Given the description of an element on the screen output the (x, y) to click on. 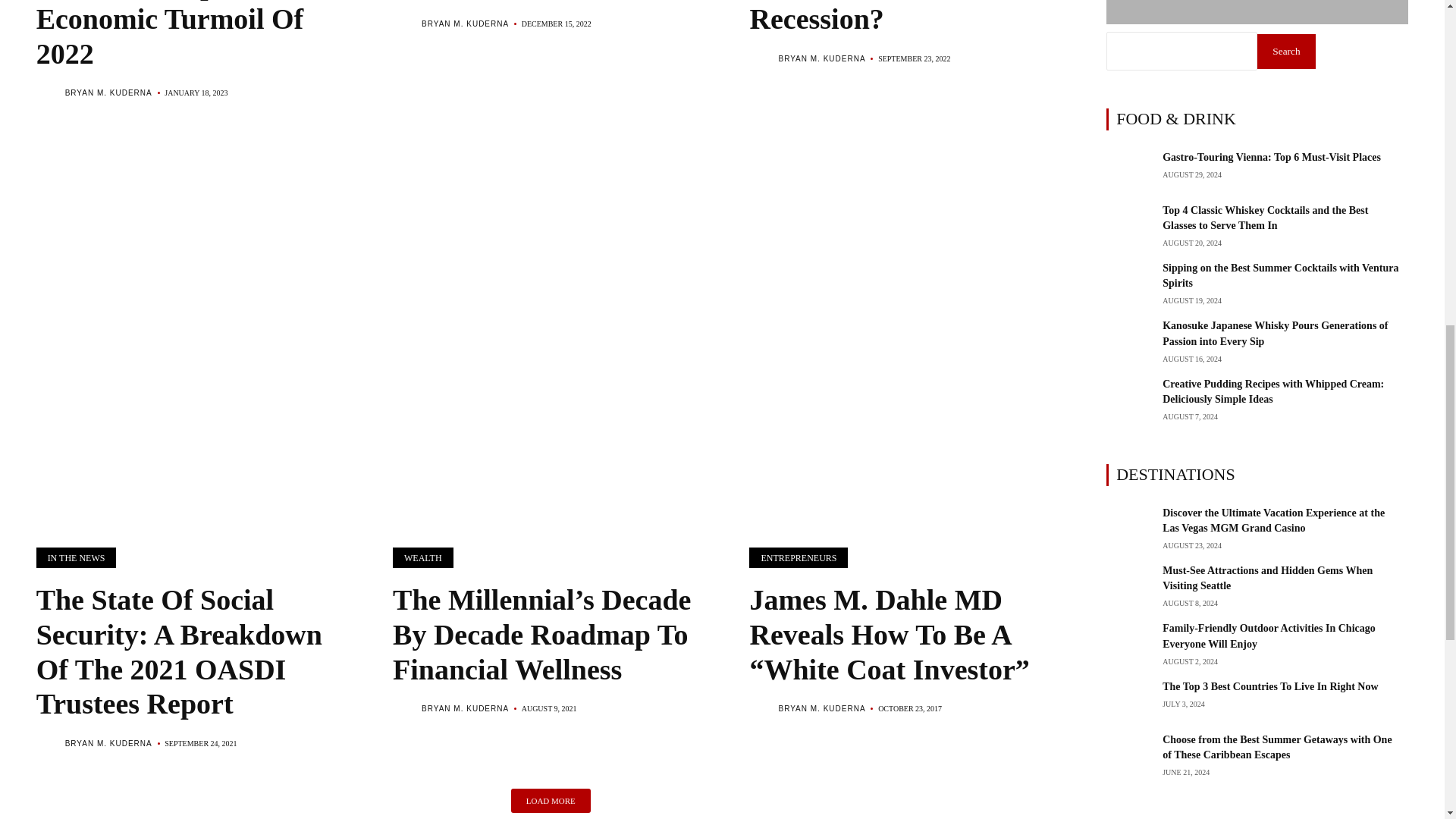
Posts by Bryan M. Kuderna (465, 23)
Posts by Bryan M. Kuderna (108, 92)
Posts by Bryan M. Kuderna (108, 743)
Posts by Bryan M. Kuderna (465, 708)
Posts by Bryan M. Kuderna (820, 708)
Posts by Bryan M. Kuderna (820, 58)
